Given the description of an element on the screen output the (x, y) to click on. 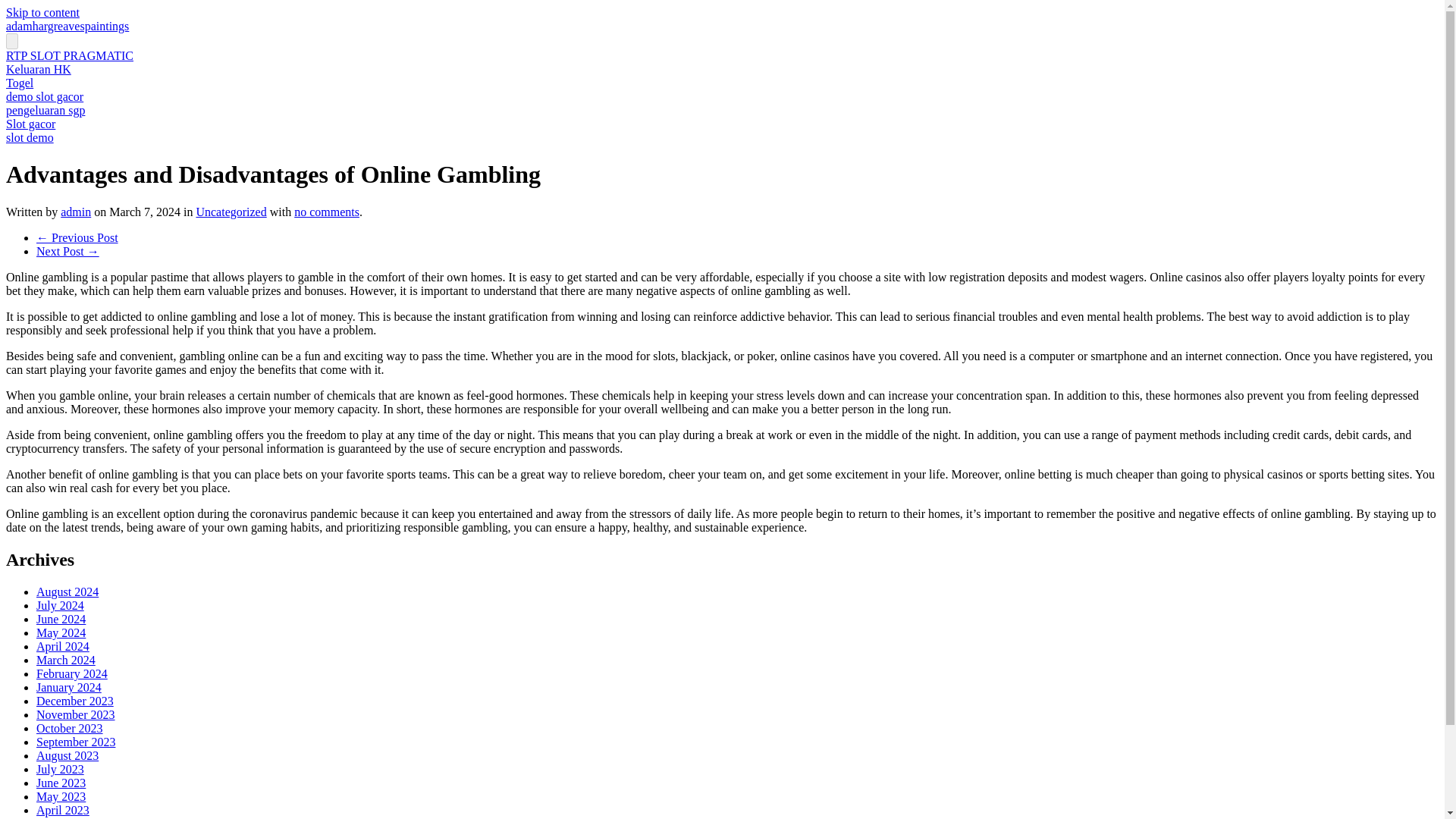
admin (75, 211)
May 2024 (60, 632)
March 2024 (66, 659)
June 2024 (60, 618)
pengeluaran sgp (44, 110)
November 2023 (75, 714)
adamhargreavespaintings (67, 25)
Slot gacor (30, 123)
June 2023 (60, 782)
April 2023 (62, 809)
